Given the description of an element on the screen output the (x, y) to click on. 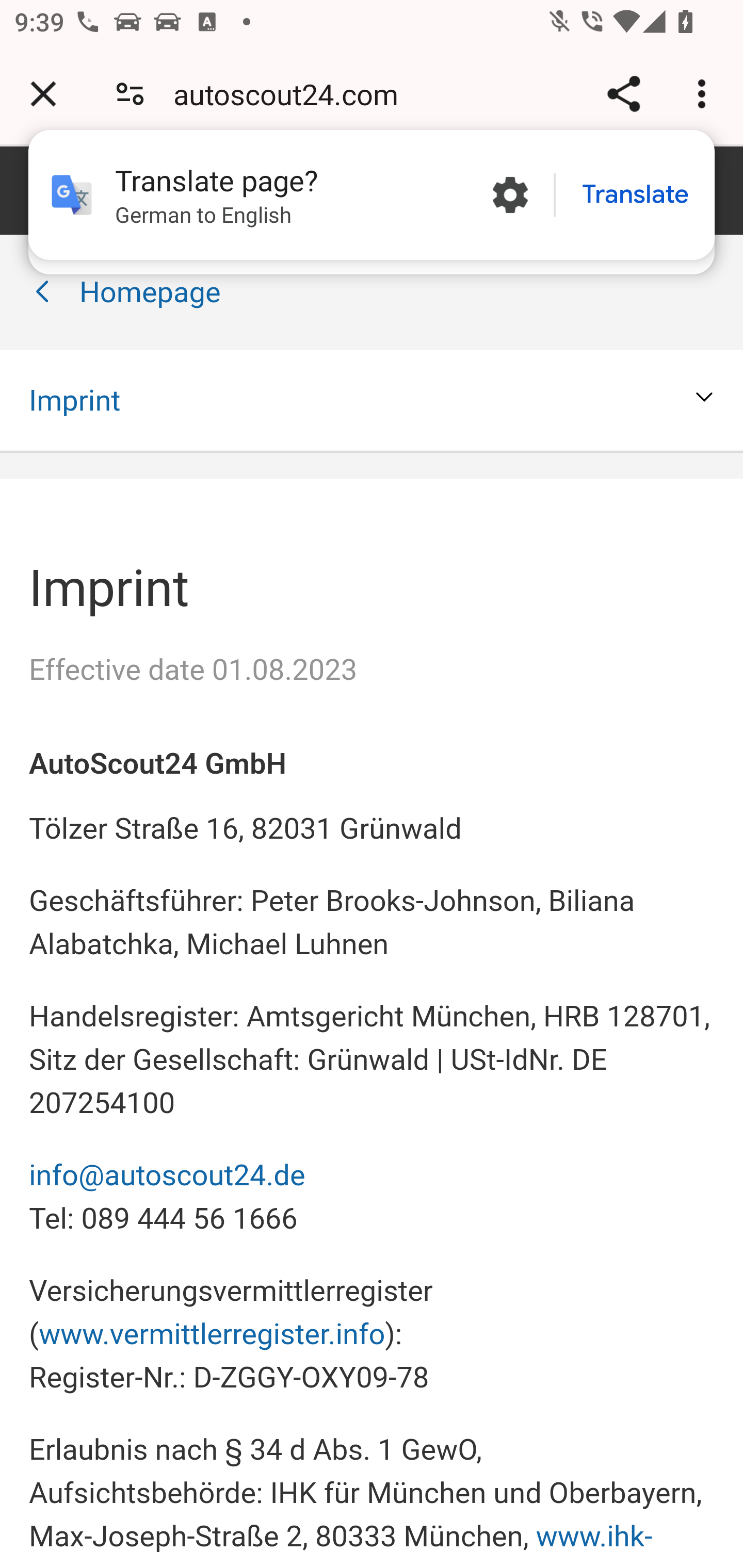
Close tab (43, 93)
Share (623, 93)
Customize and control Google Chrome (705, 93)
Connection is secure (129, 93)
autoscout24.com (293, 93)
Translate (634, 195)
More options in the Translate page? (509, 195)
Main menu (57, 189)
Homepage (149, 293)
info@autoscout24.de (167, 1175)
www.vermittlerregister.info (211, 1333)
www.ihk-muenchen.de (340, 1542)
